Given the description of an element on the screen output the (x, y) to click on. 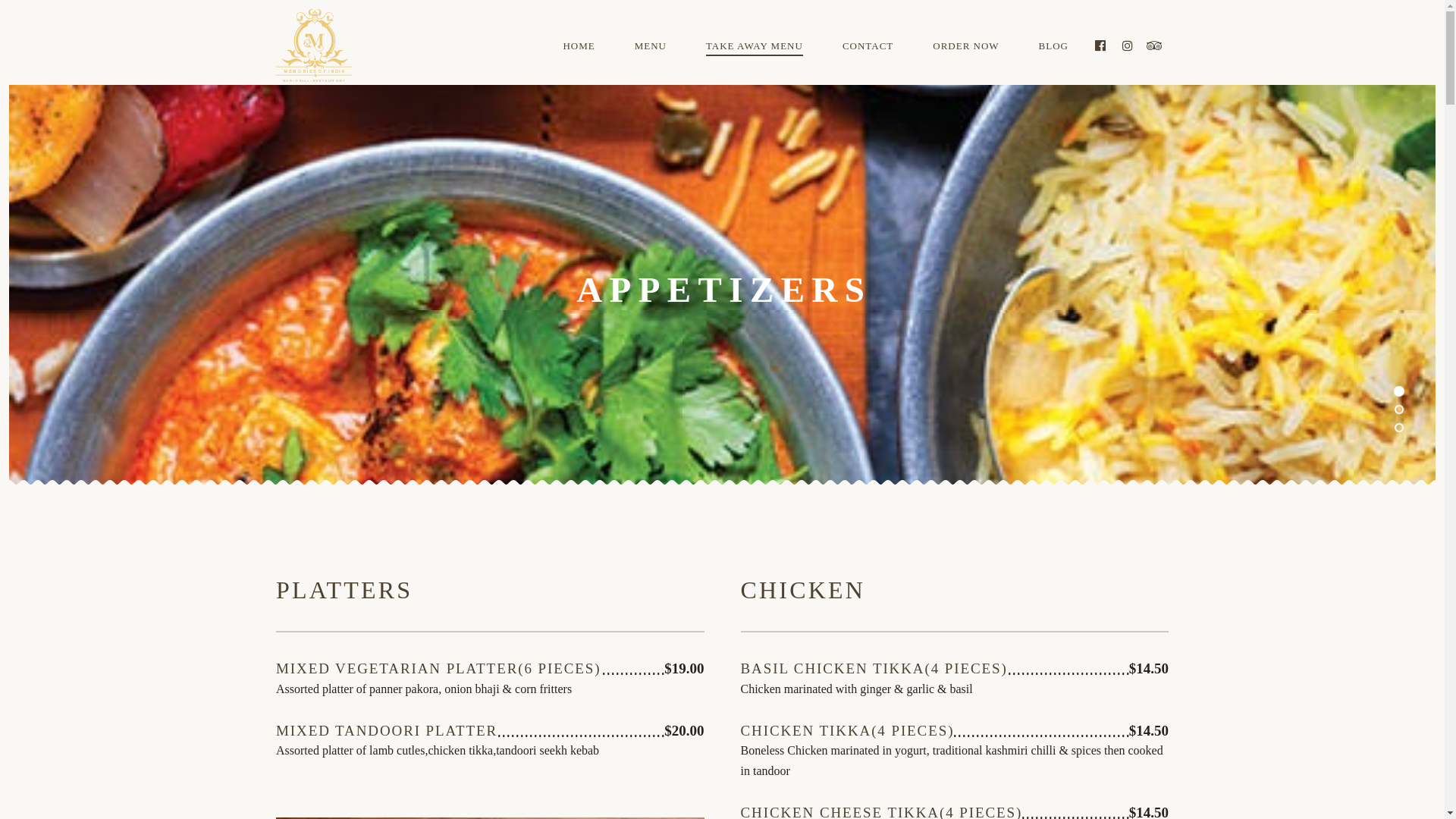
MEMORIES OF INDIA Element type: hover (324, 46)
TAKE AWAY MENU Element type: text (754, 46)
HOME Element type: text (578, 45)
CONTACT Element type: text (867, 45)
FACEBOOK Element type: text (1099, 45)
BLOG Element type: text (1053, 45)
TRIPADVISOR Element type: text (1154, 45)
ORDER NOW Element type: text (965, 45)
MENU Element type: text (650, 45)
INSTAGRAM Element type: text (1127, 45)
